Given the description of an element on the screen output the (x, y) to click on. 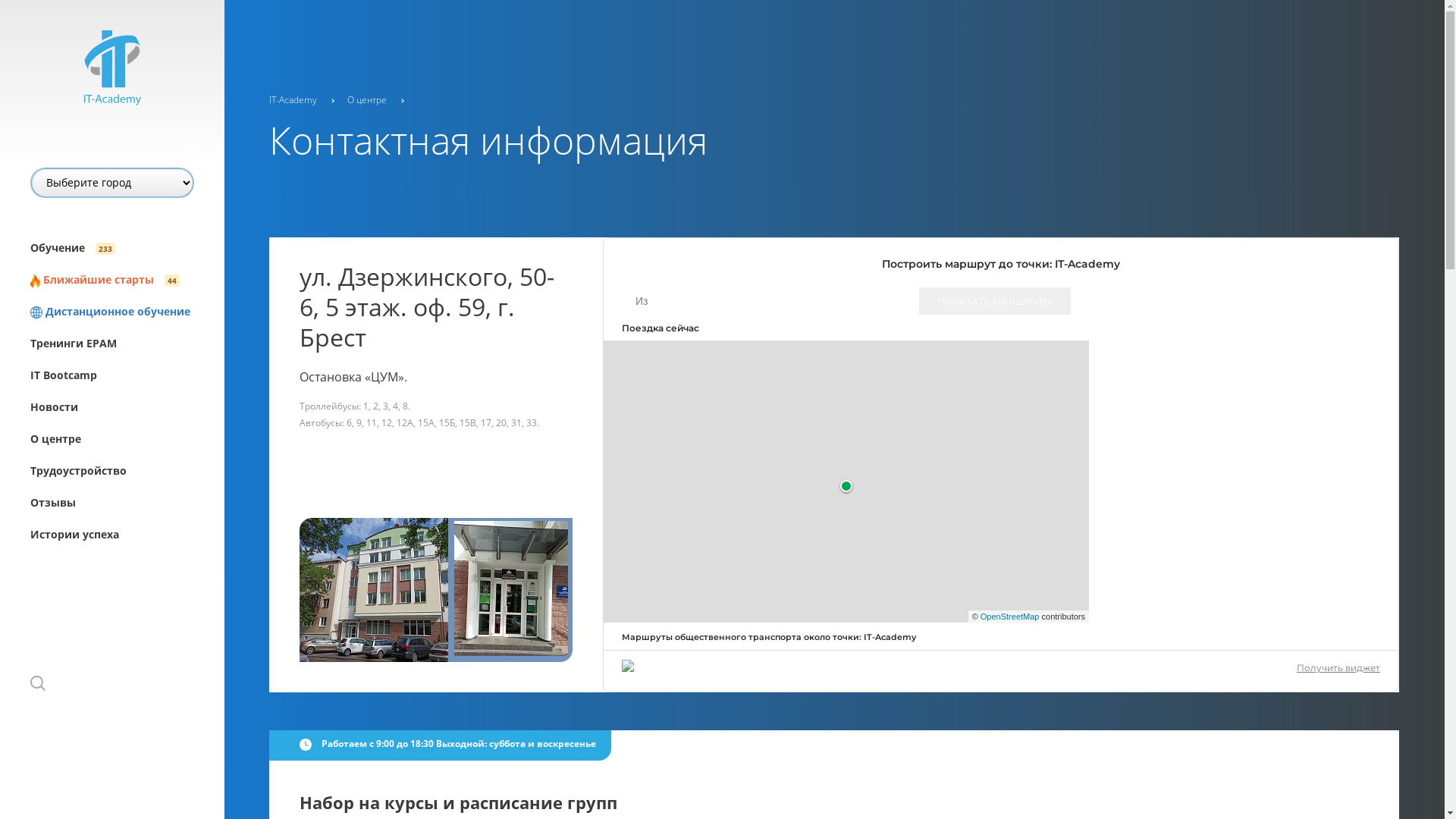
IT Bootcamp Element type: text (127, 375)
IT-Academy Element type: text (294, 99)
